Given the description of an element on the screen output the (x, y) to click on. 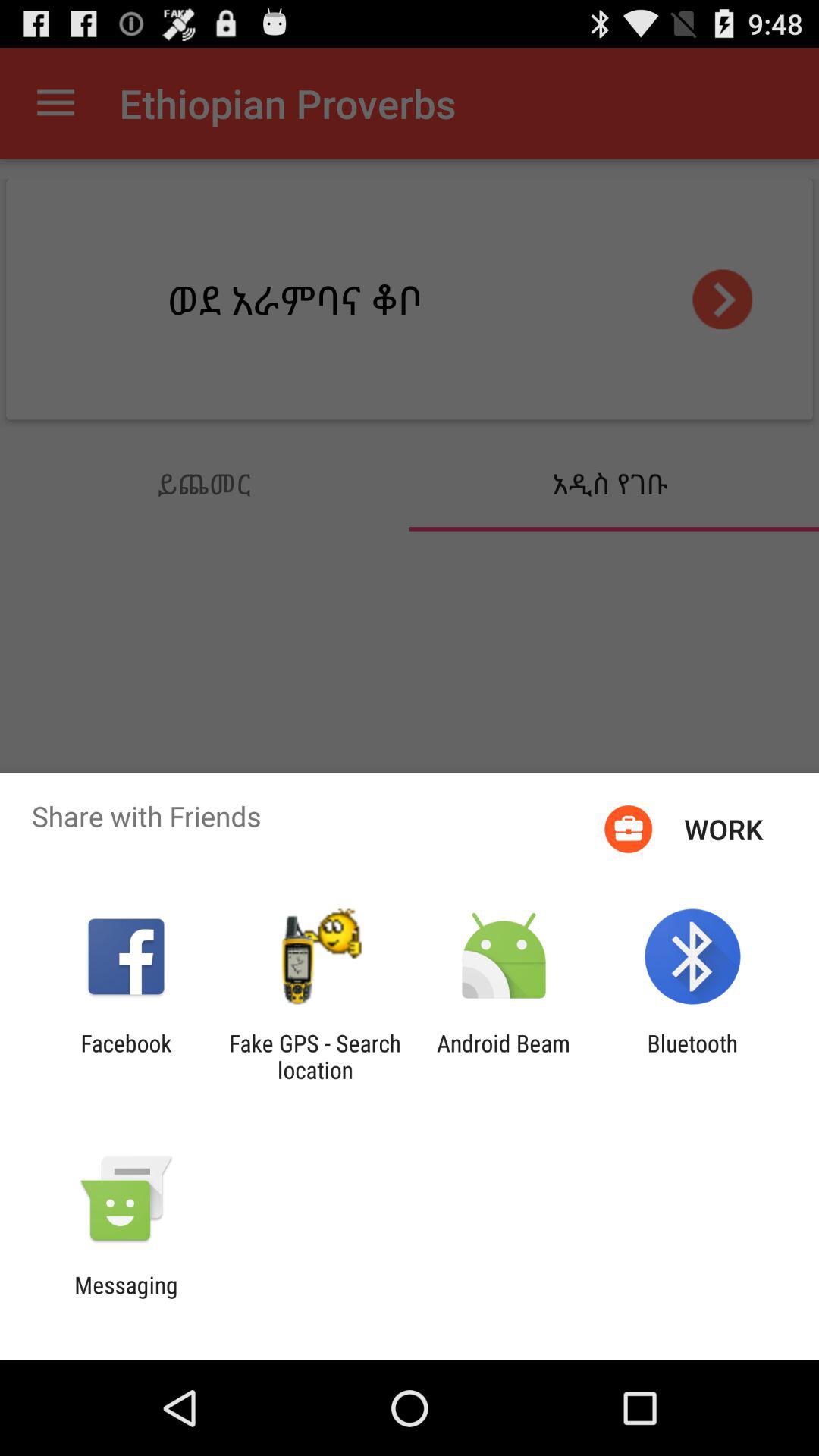
launch bluetooth item (692, 1056)
